Given the description of an element on the screen output the (x, y) to click on. 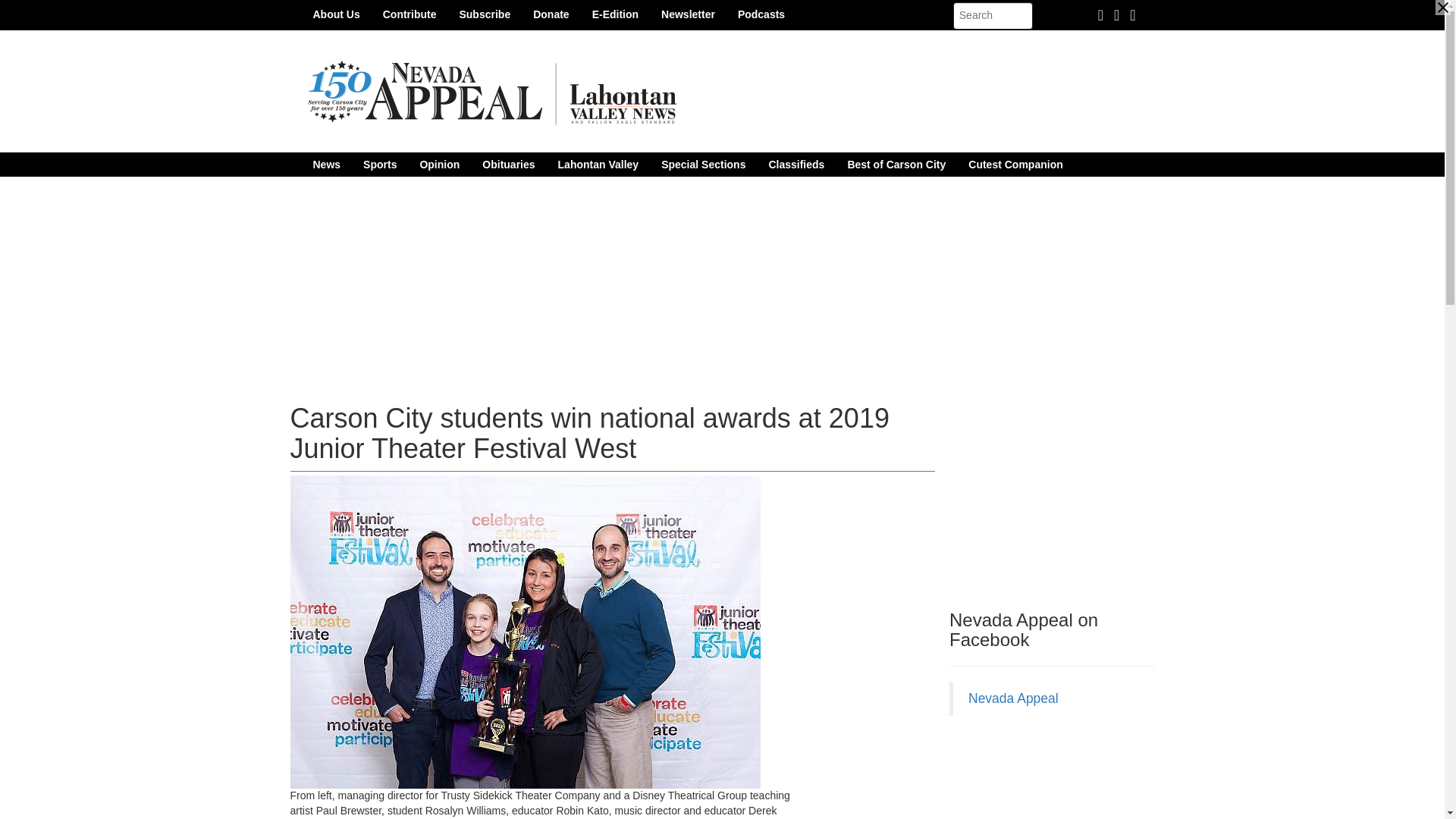
Newsletter (687, 14)
Obituaries (508, 164)
About Us (336, 14)
Opinion (438, 164)
Contribute (409, 14)
Donate (550, 14)
Podcasts (761, 14)
Best of Carson City (895, 164)
News (326, 164)
Sports (379, 164)
